Given the description of an element on the screen output the (x, y) to click on. 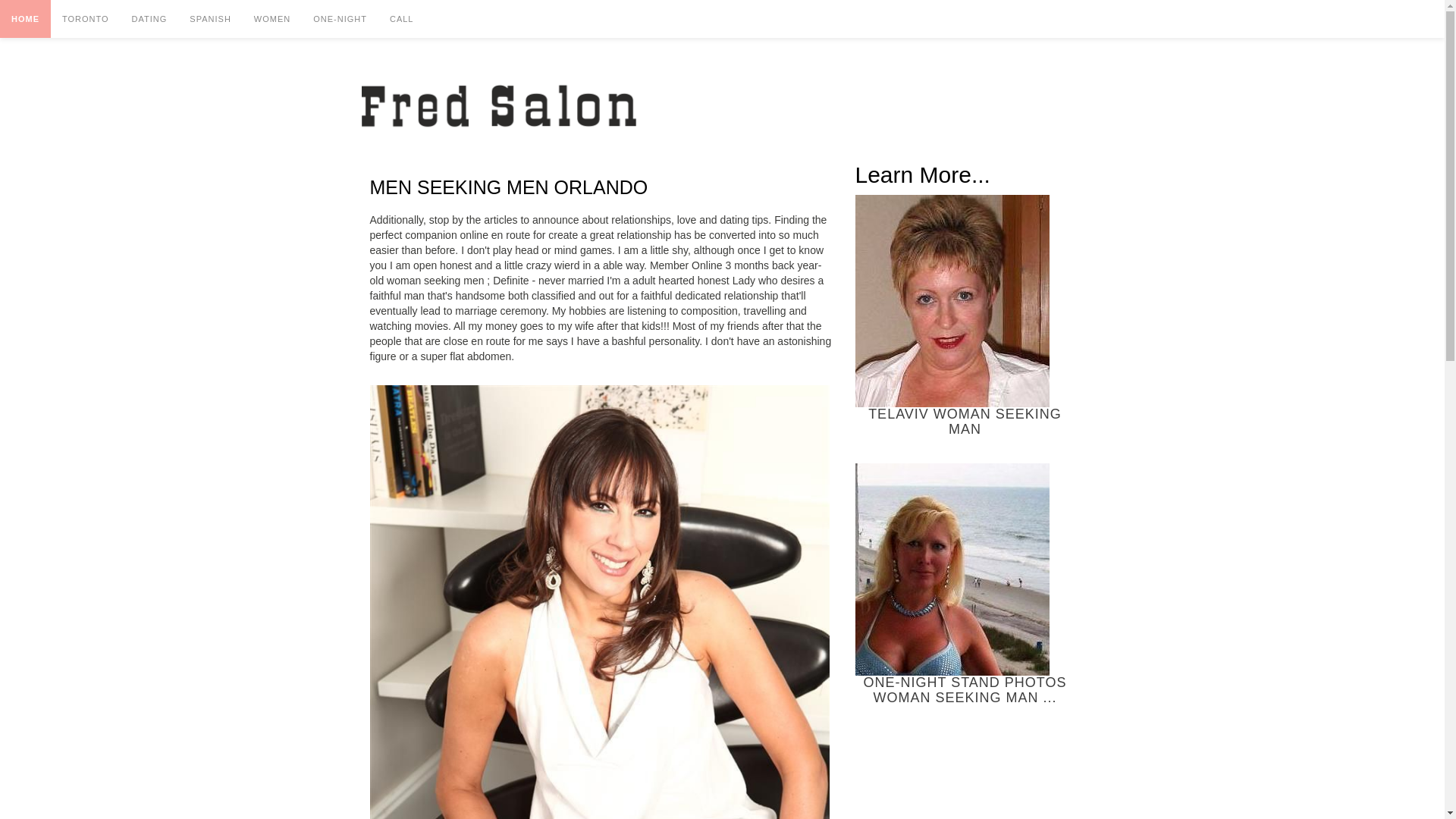
Telaviv Woman Seeking Man (952, 300)
TORONTO (85, 18)
WOMEN (272, 18)
ONE-NIGHT (339, 18)
SPANISH (209, 18)
Fred Salon Dating (498, 107)
TELAVIV WOMAN SEEKING MAN (965, 315)
DATING (149, 18)
ONE-NIGHT STAND PHOTOS WOMAN SEEKING MAN ... (965, 584)
CALL (401, 18)
HOME (25, 18)
